Given the description of an element on the screen output the (x, y) to click on. 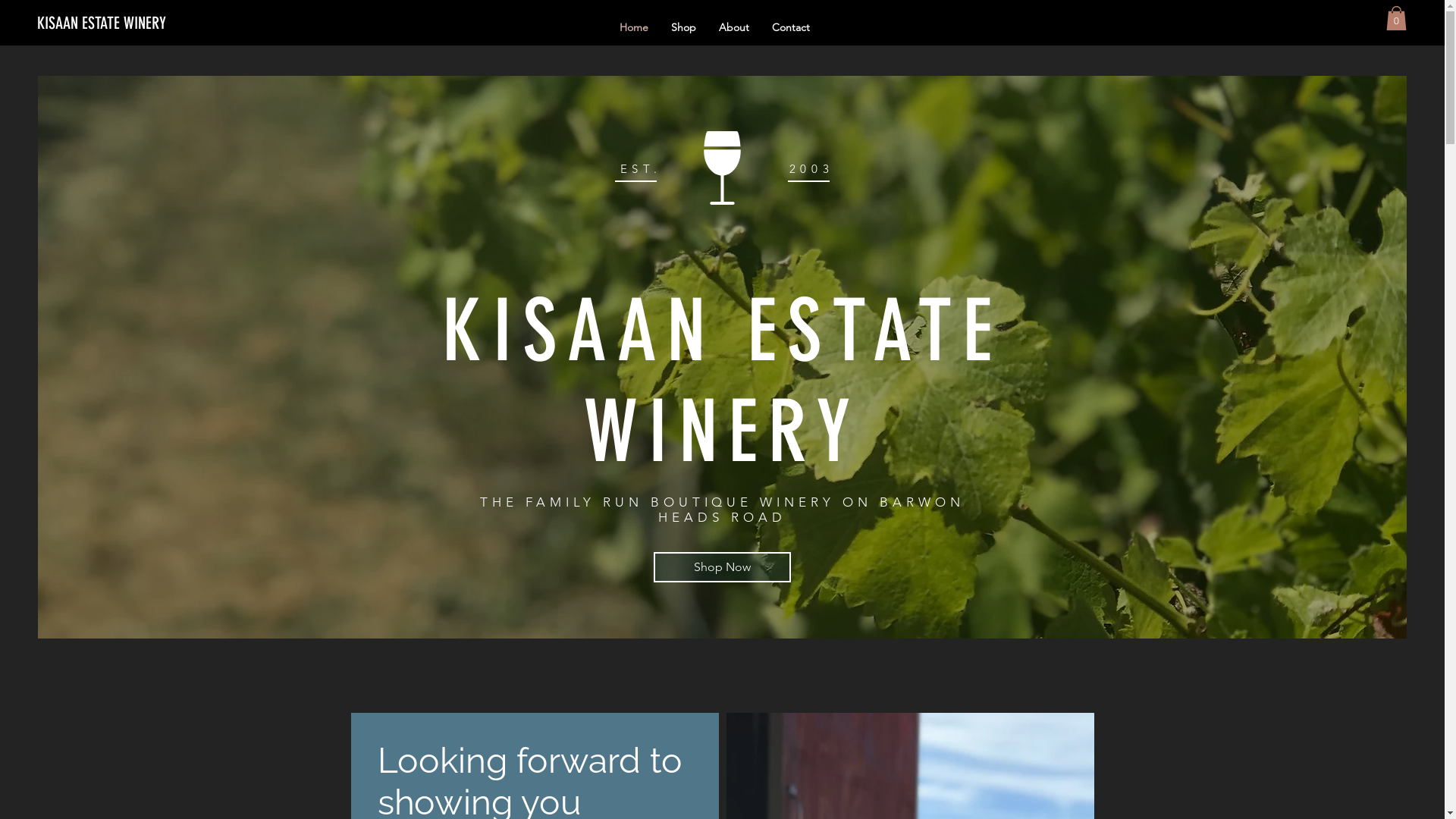
Home Element type: text (633, 27)
KISAAN ESTATE WINERY Element type: text (136, 23)
Contact Element type: text (789, 27)
Shop Element type: text (683, 27)
0 Element type: text (1396, 18)
Shop Now Element type: text (721, 567)
About Element type: text (732, 27)
